Given the description of an element on the screen output the (x, y) to click on. 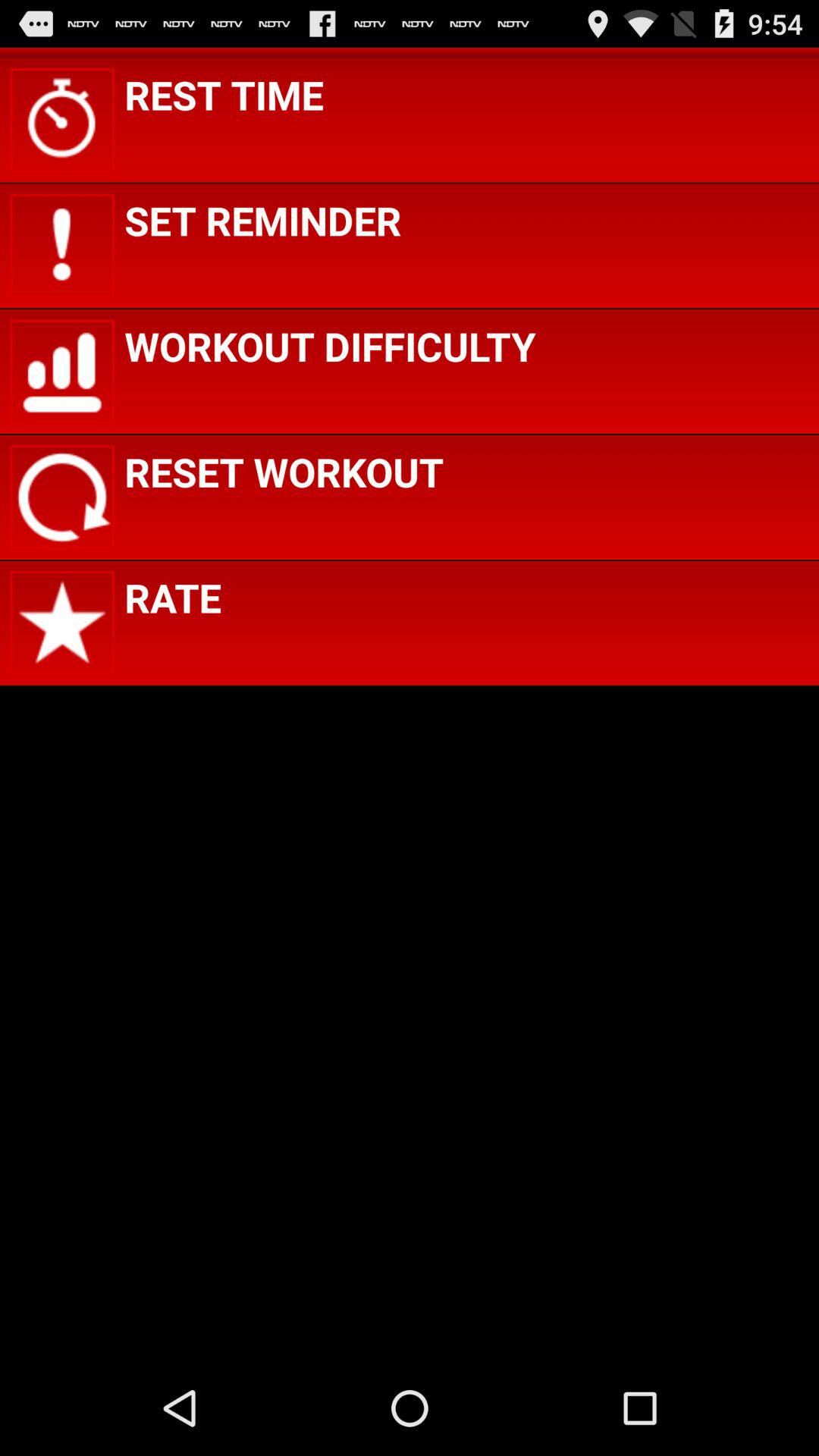
turn on app below set reminder app (329, 345)
